Given the description of an element on the screen output the (x, y) to click on. 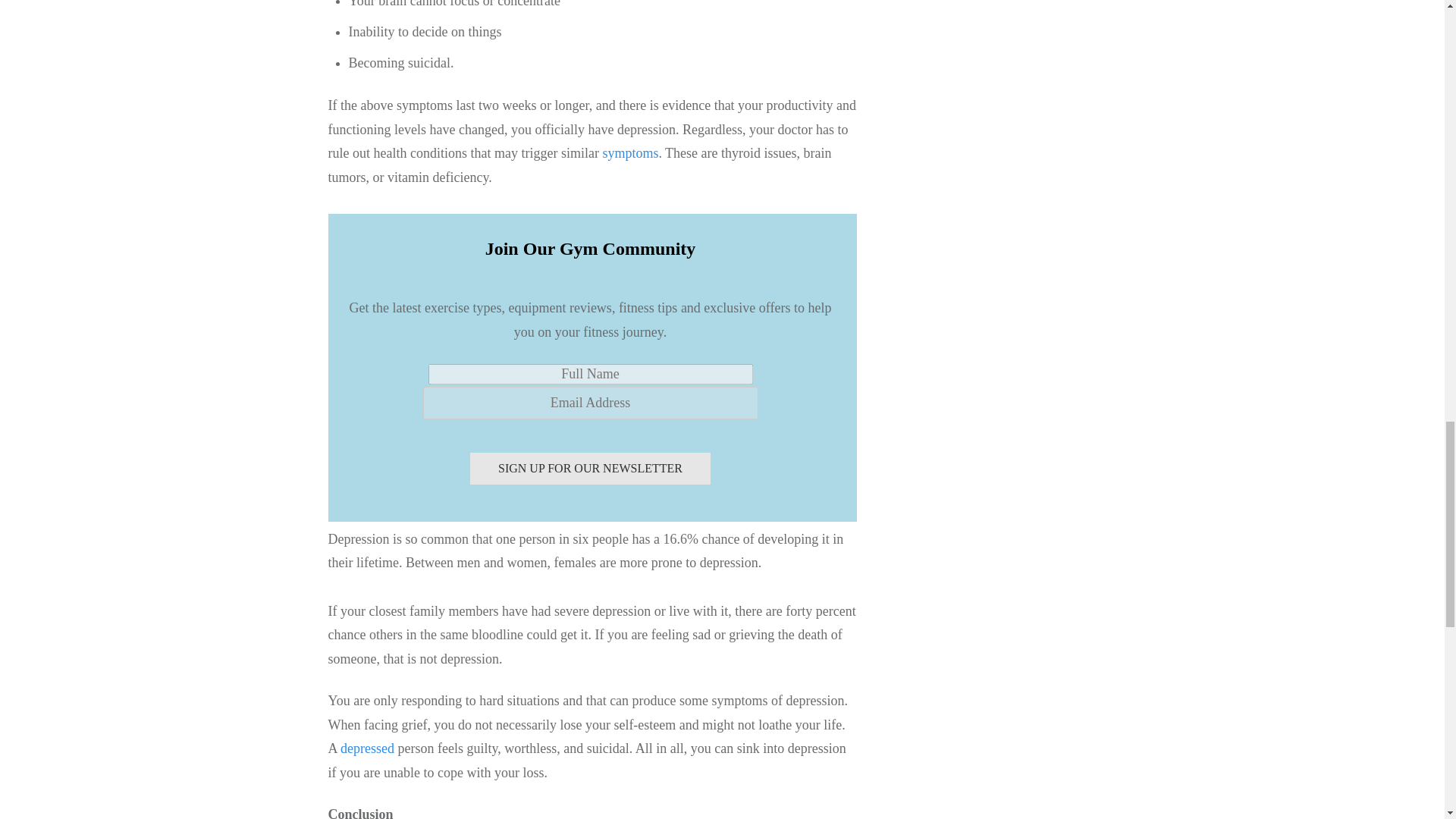
depressed (368, 748)
symptoms (630, 152)
SIGN UP FOR OUR NEWSLETTER (590, 468)
SIGN UP FOR OUR NEWSLETTER (590, 468)
